Given the description of an element on the screen output the (x, y) to click on. 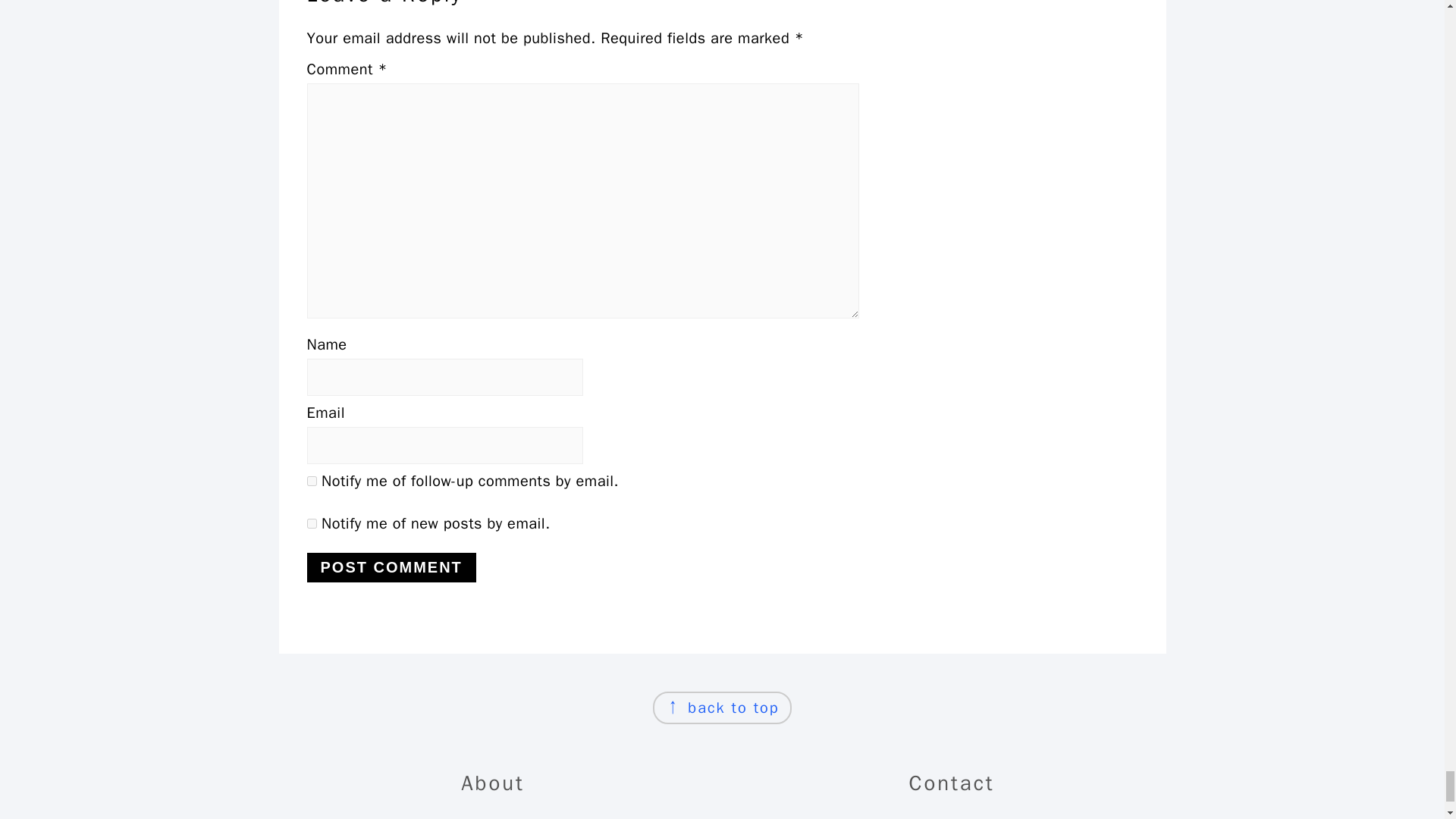
subscribe (310, 523)
subscribe (310, 480)
Post Comment (390, 567)
